Given the description of an element on the screen output the (x, y) to click on. 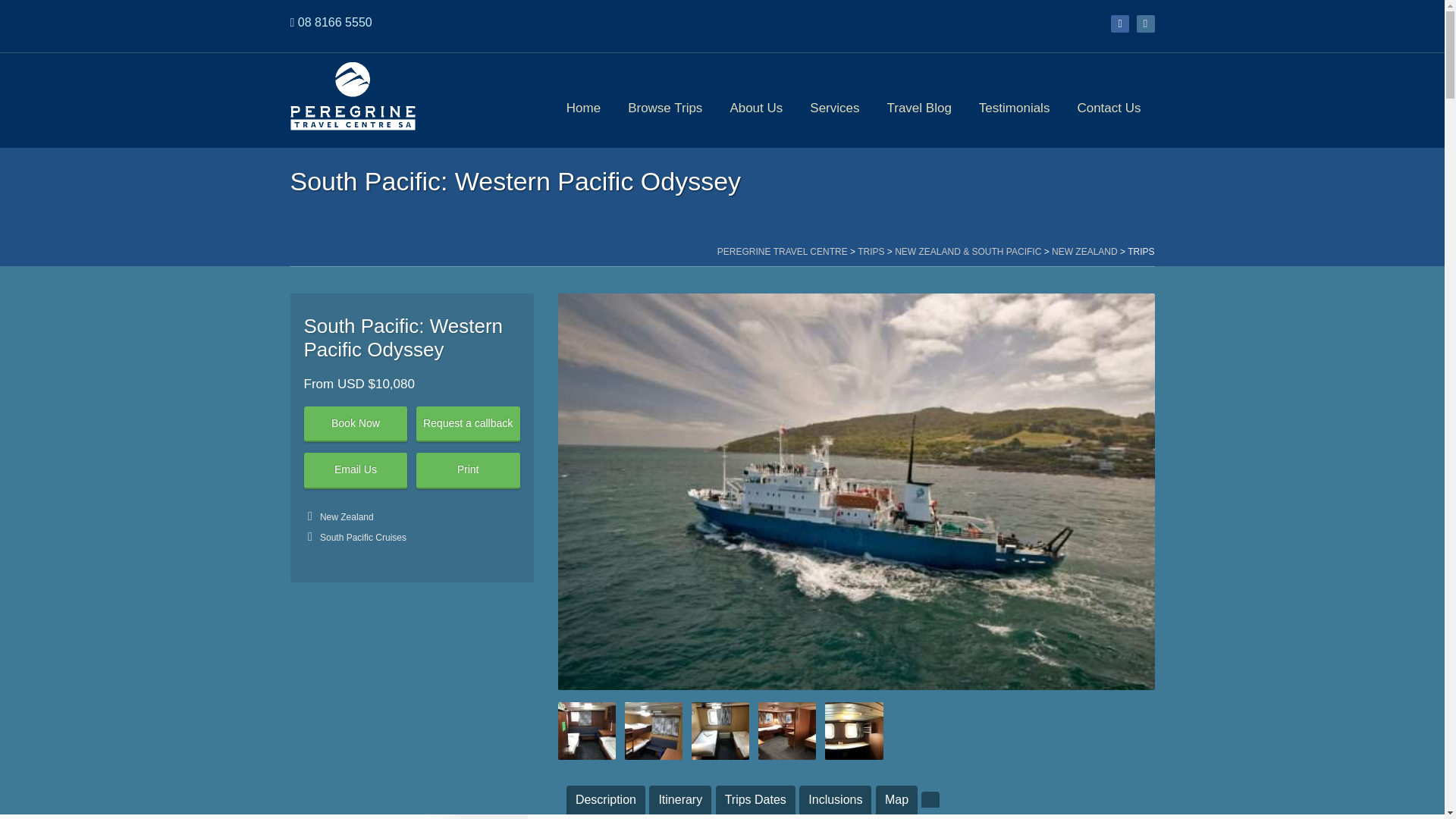
PEREGRINE TRAVEL CENTRE (782, 251)
Go to Peregrine Travel Centre. (782, 251)
Image-3-WESHE.jpeg (720, 730)
Image-2-WESHE.jpeg (653, 730)
Services (834, 100)
NEW ZEALAND (1084, 251)
About Us (756, 100)
Image-1-WESHE.jpeg (586, 730)
08 8166 5550 (335, 21)
Peregrine Travel Centre (351, 97)
Image-5-WESHE.jpeg (853, 730)
Testimonials (1014, 100)
Image-4-WESHE.jpeg (786, 730)
Home (583, 100)
